Given the description of an element on the screen output the (x, y) to click on. 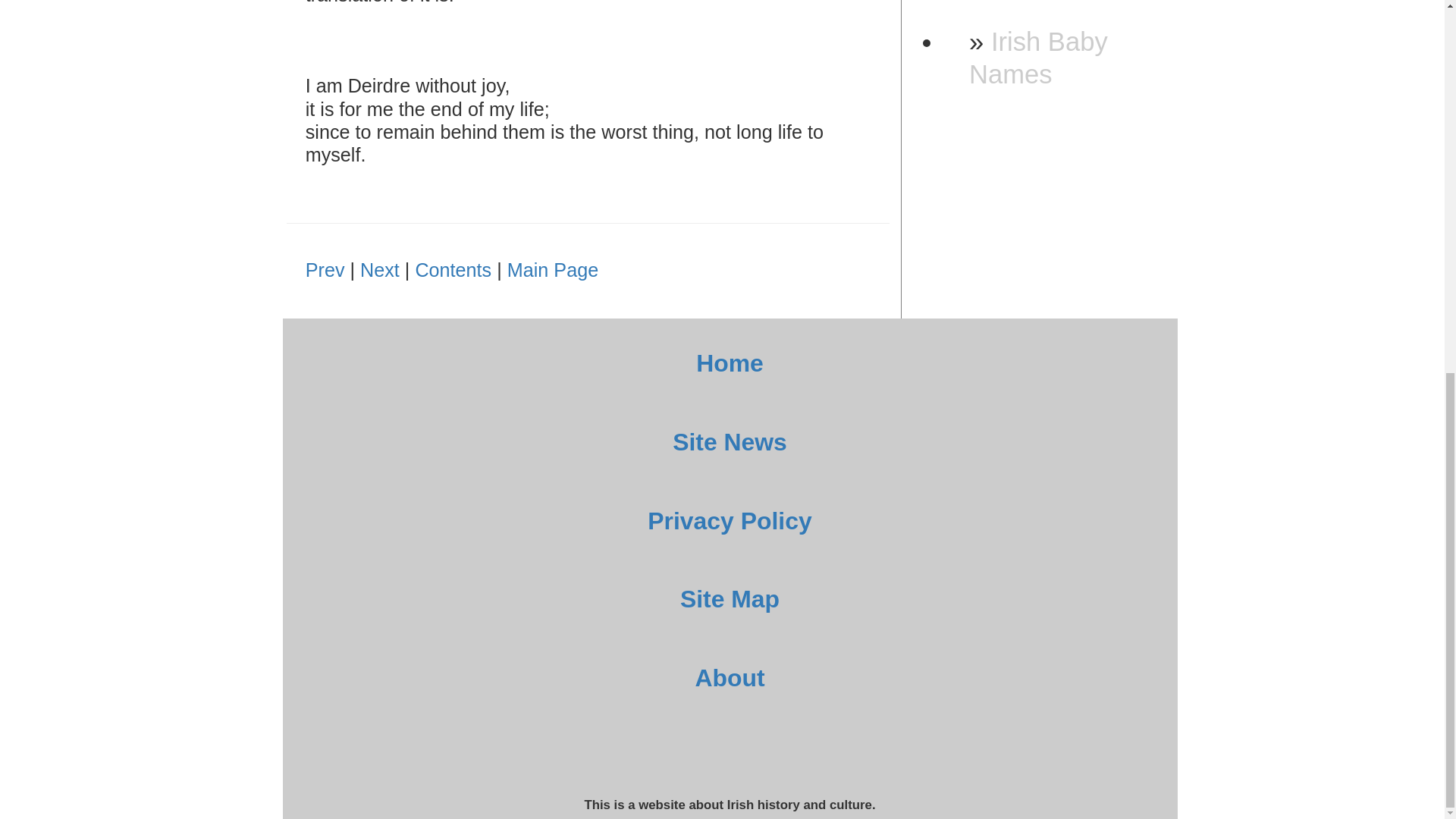
Site Map (728, 598)
Prev (325, 269)
Next (378, 269)
Privacy Policy (728, 520)
Contents (453, 269)
Main Page (552, 269)
Irish Baby Names (1038, 57)
Site News (729, 441)
Home (728, 362)
About (729, 677)
